Given the description of an element on the screen output the (x, y) to click on. 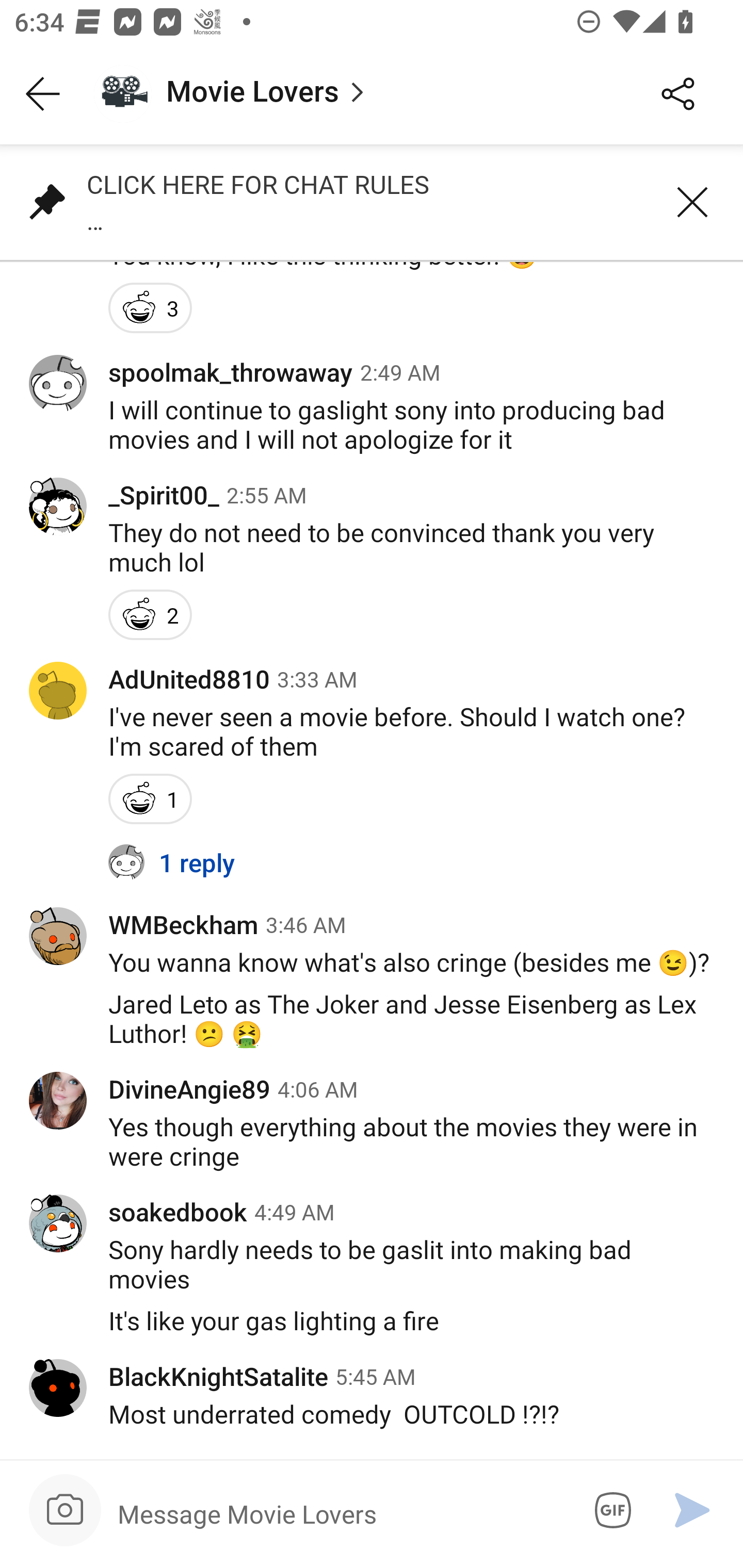
Back (43, 93)
Movie Lovers (353, 93)
Share (677, 93)
It's like your gas lighting a fire (371, 1331)
Upload image (64, 1510)
Add GIF (609, 1510)
Send message (692, 1510)
Message Message Movie Lovers (338, 1513)
